Given the description of an element on the screen output the (x, y) to click on. 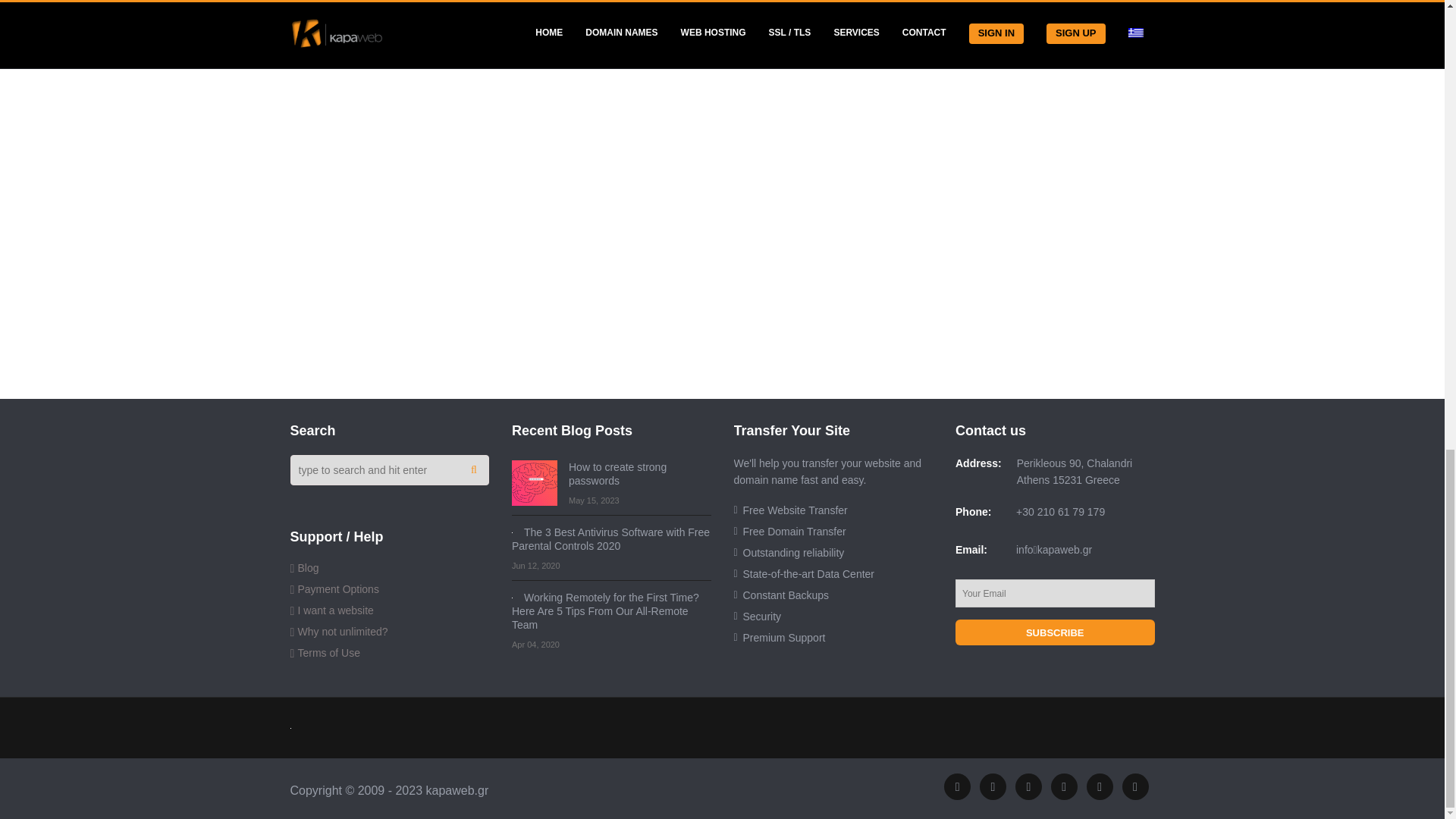
I want a website (334, 610)
ok (473, 470)
Blog (307, 567)
ok (473, 470)
Subscribe (1054, 632)
Payment Options (337, 589)
Terms of Use (328, 653)
Why not unlimited? (342, 631)
